Given the description of an element on the screen output the (x, y) to click on. 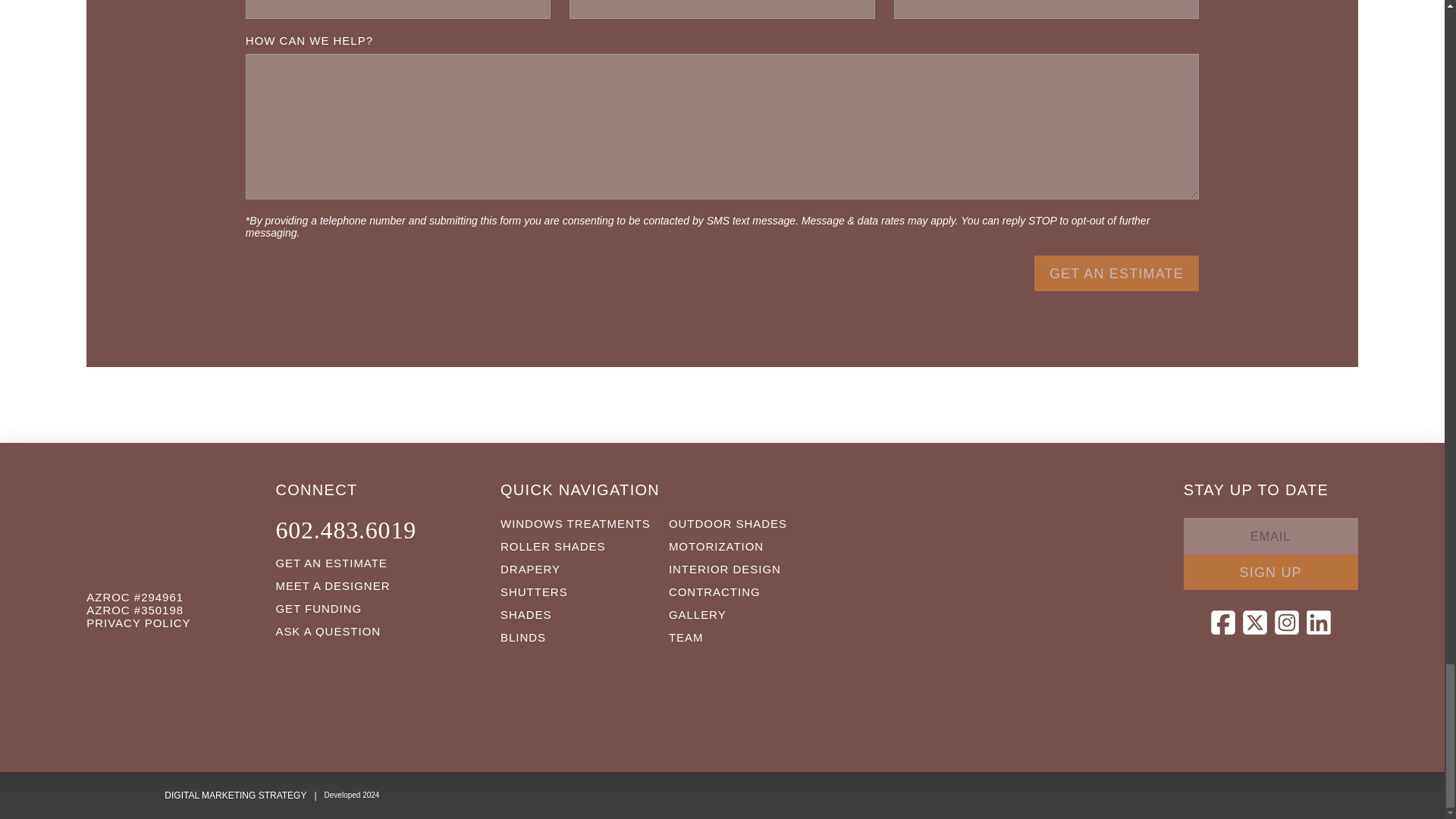
INTERIOR DESIGN (724, 568)
DRAPERY (529, 568)
SHUTTERS (533, 591)
WINDOWS TREATMENTS (574, 523)
OUTDOOR SHADES (727, 523)
GET FUNDING (318, 608)
PRIVACY POLICY (137, 622)
CONTRACTING (714, 591)
602.483.6019 (344, 529)
GET AN ESTIMATE (330, 562)
